Given the description of an element on the screen output the (x, y) to click on. 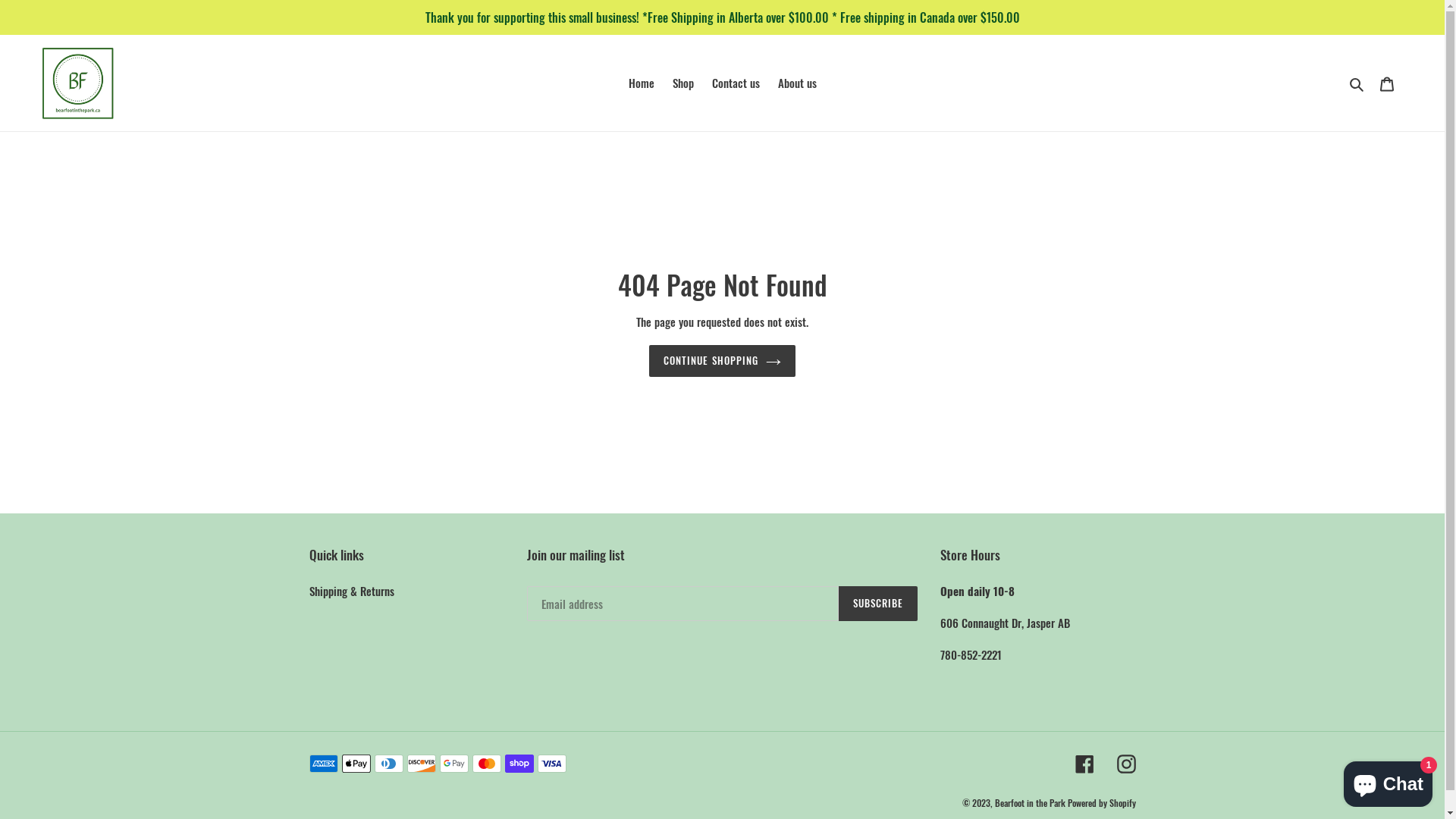
Shipping & Returns Element type: text (351, 590)
Bearfoot in the Park Element type: text (1030, 802)
Powered by Shopify Element type: text (1101, 802)
Home Element type: text (640, 83)
Contact us Element type: text (734, 83)
CONTINUE SHOPPING Element type: text (722, 360)
SUBSCRIBE Element type: text (877, 603)
Facebook Element type: text (1084, 763)
Shopify online store chat Element type: hover (1388, 780)
Search Element type: text (1357, 82)
Instagram Element type: text (1125, 763)
About us Element type: text (797, 83)
Cart Element type: text (1386, 82)
Shop Element type: text (682, 83)
